Given the description of an element on the screen output the (x, y) to click on. 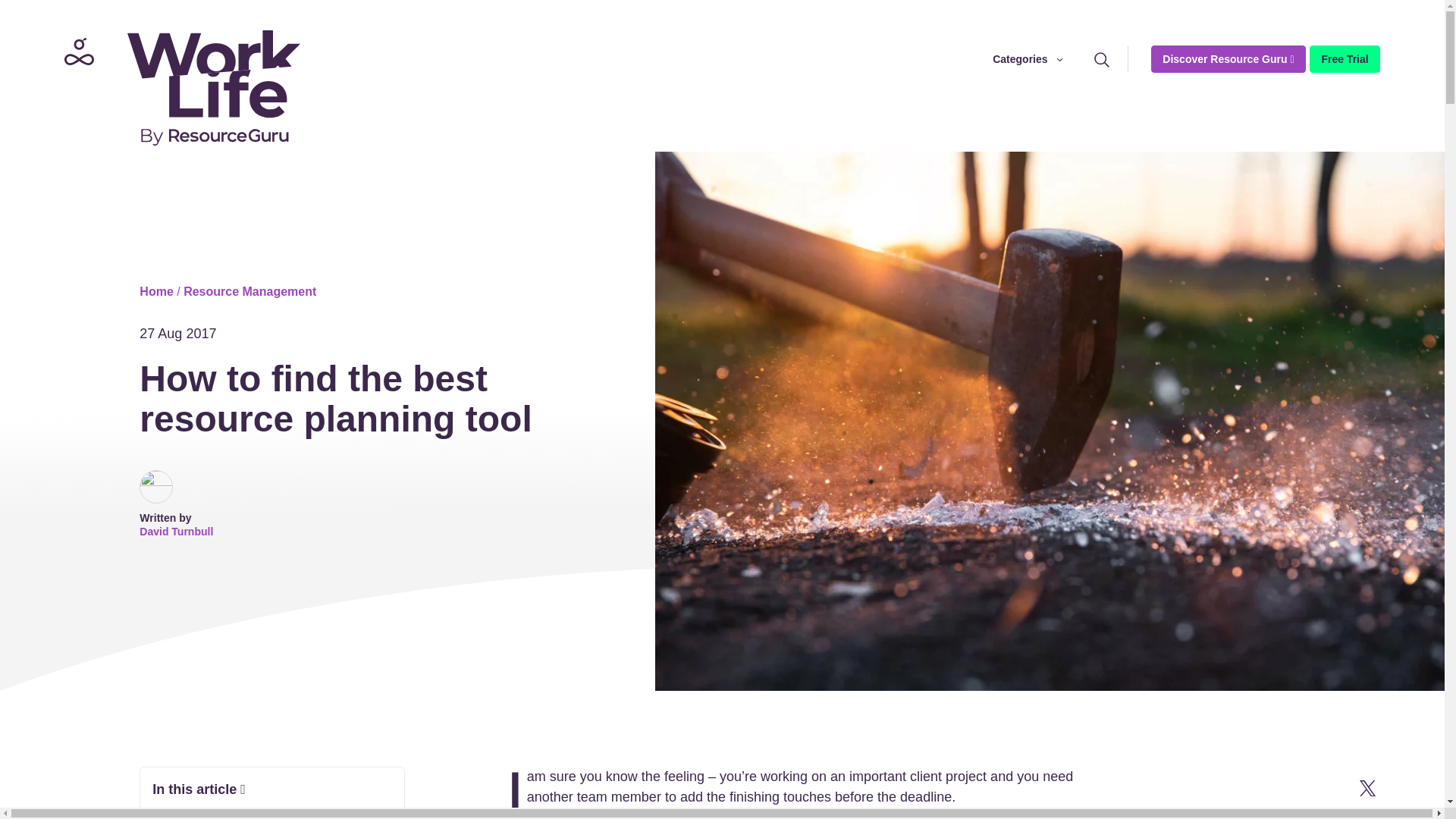
Free Trial (1343, 58)
Posts by David Turnbull (175, 531)
Resource Management (249, 291)
David Turnbull (175, 531)
Resource Guru (178, 87)
Home (156, 291)
